Given the description of an element on the screen output the (x, y) to click on. 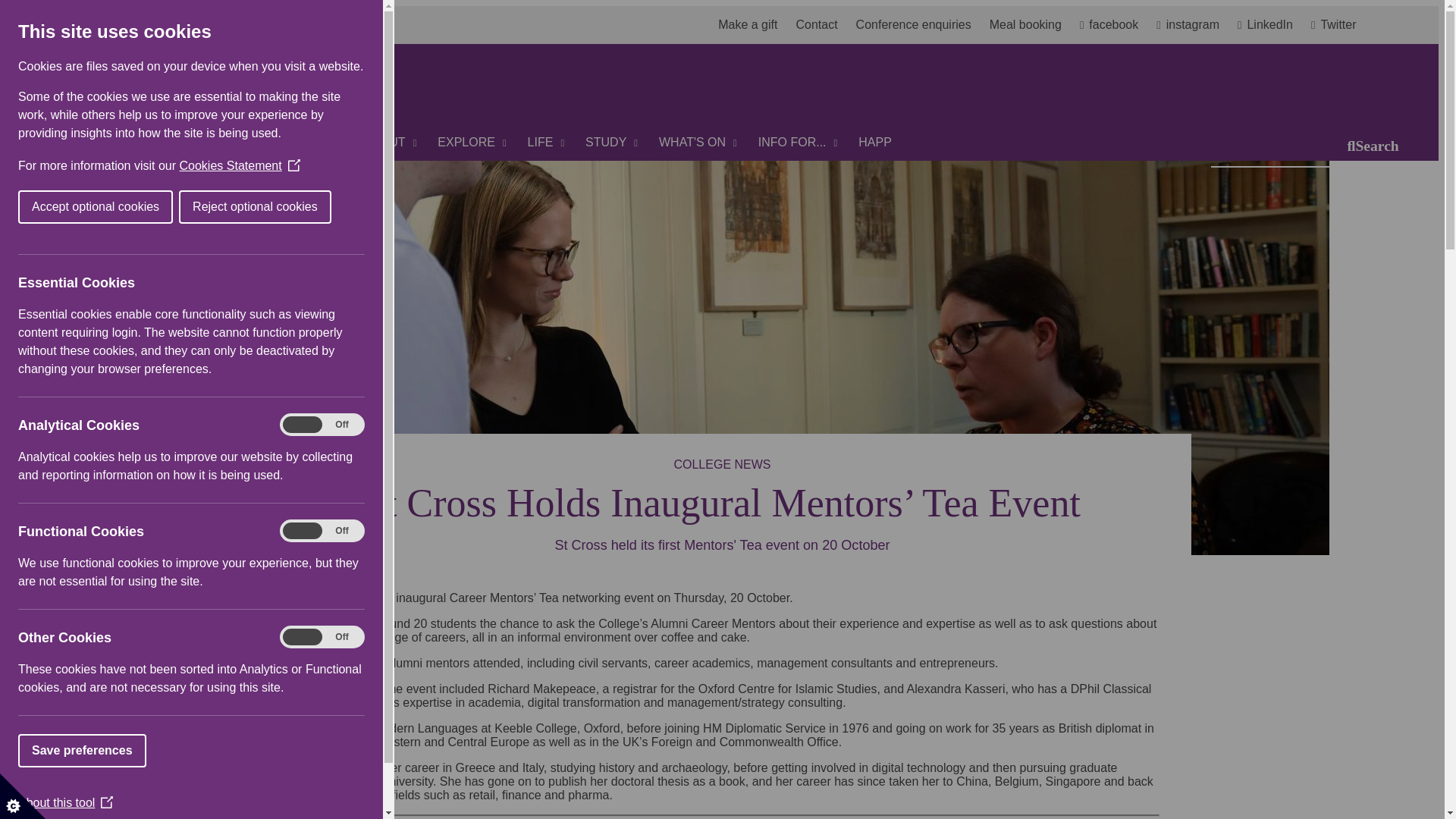
Meal booking (1025, 24)
ABOUT (390, 142)
Contact (821, 24)
EXPLORE (471, 142)
Conference enquiries (920, 24)
instagram (1193, 24)
LinkedIn (1270, 24)
Enter the terms you wish to search for (1277, 145)
Twitter (1333, 24)
Contact (821, 24)
facebook (1115, 24)
HOME (324, 142)
Search (1361, 139)
